Given the description of an element on the screen output the (x, y) to click on. 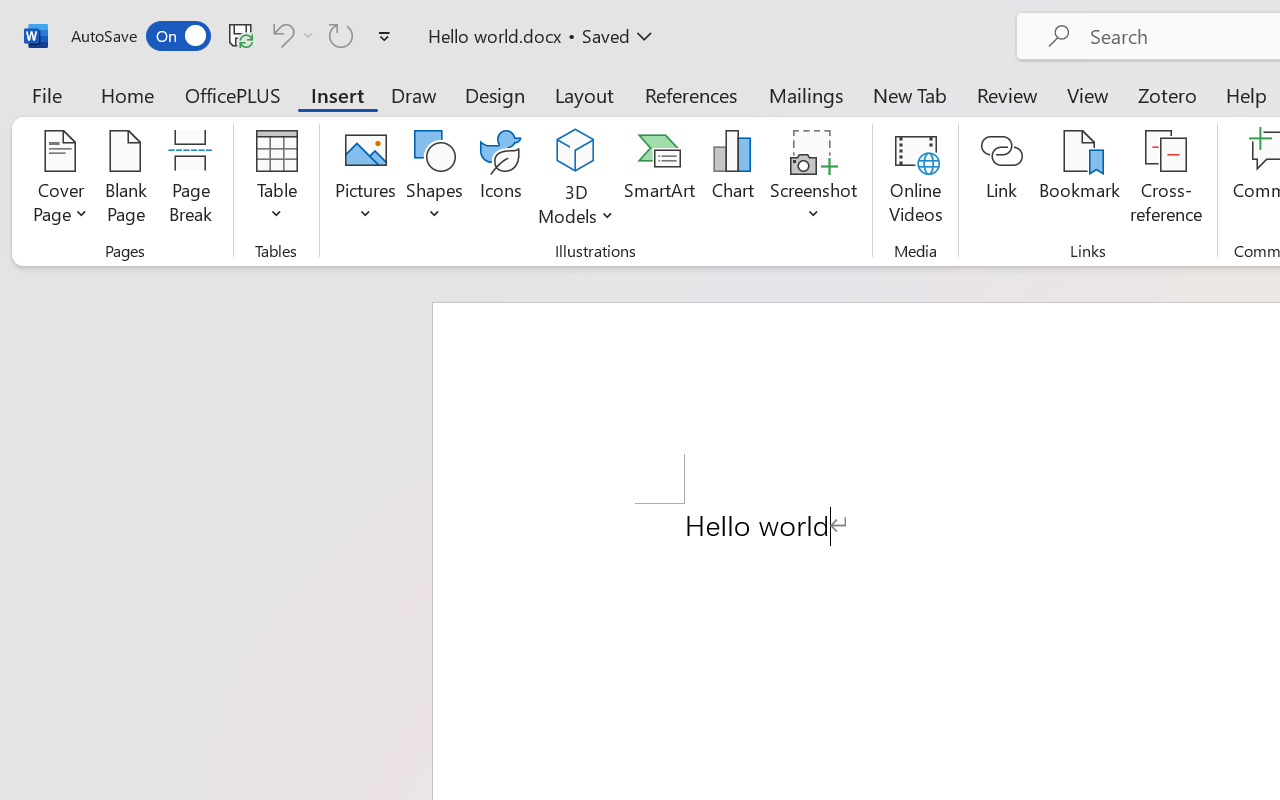
Zotero (1166, 94)
Layout (584, 94)
More Options (576, 208)
Chart... (732, 179)
Design (495, 94)
Table (276, 179)
3D Models (576, 151)
Icons (500, 179)
3D Models (576, 179)
Page Break (190, 179)
Link (1001, 179)
Cross-reference... (1165, 179)
Can't Repeat (341, 35)
